Given the description of an element on the screen output the (x, y) to click on. 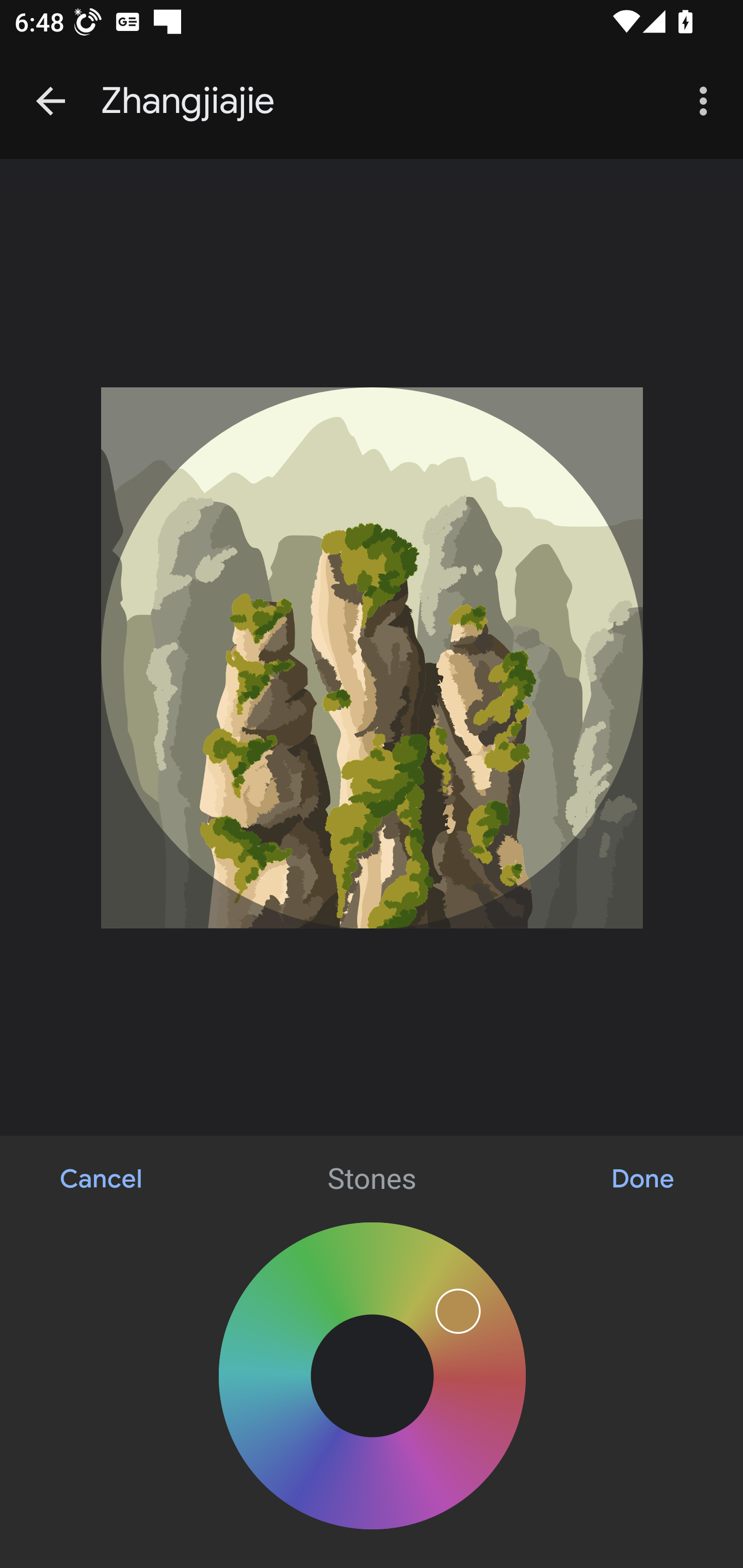
Navigate up (50, 101)
More options (706, 101)
Cancel (101, 1178)
Done (643, 1178)
#B45050, currently selected, Stones (375, 1379)
